Given the description of an element on the screen output the (x, y) to click on. 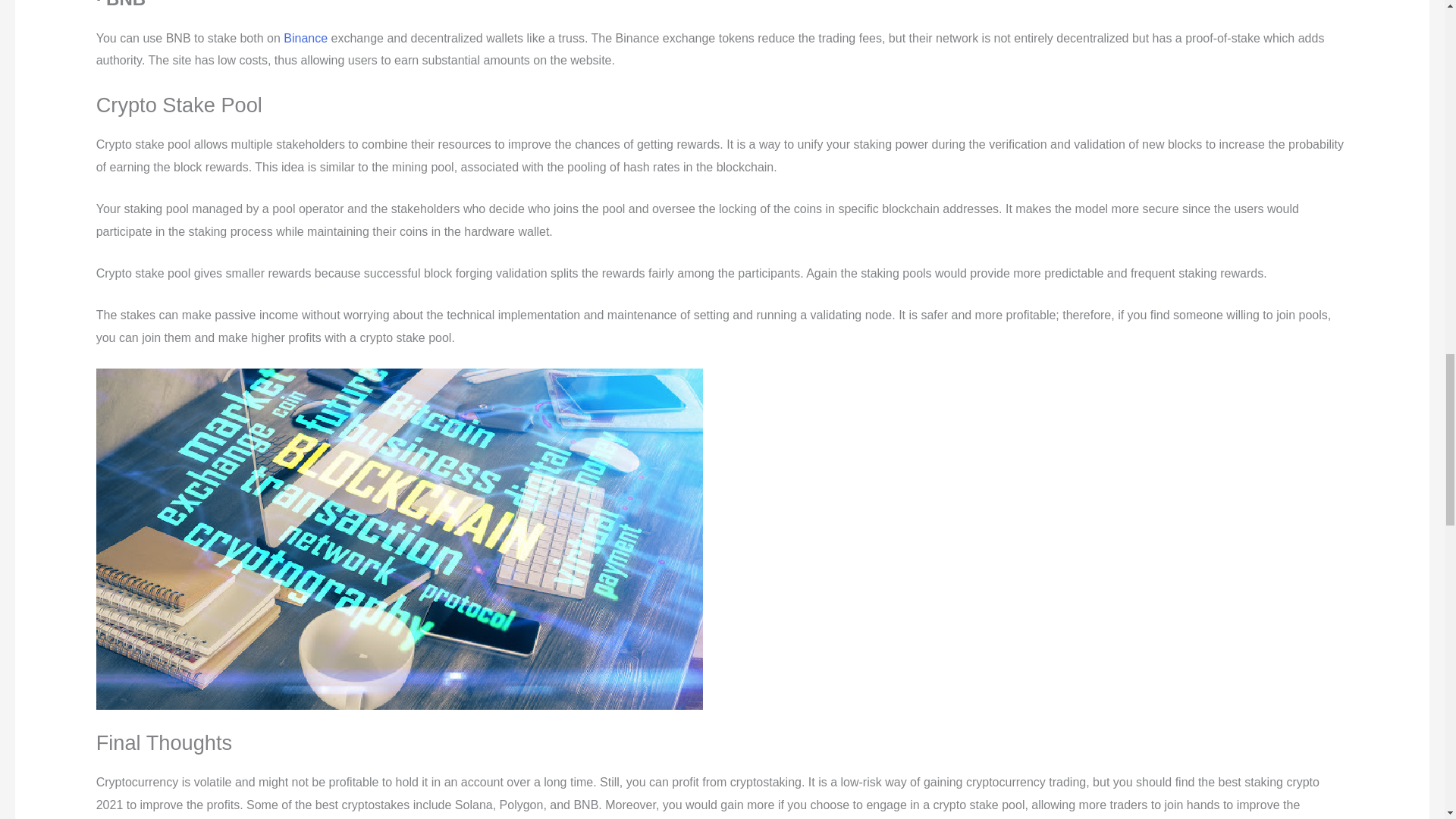
Binance (305, 38)
